Given the description of an element on the screen output the (x, y) to click on. 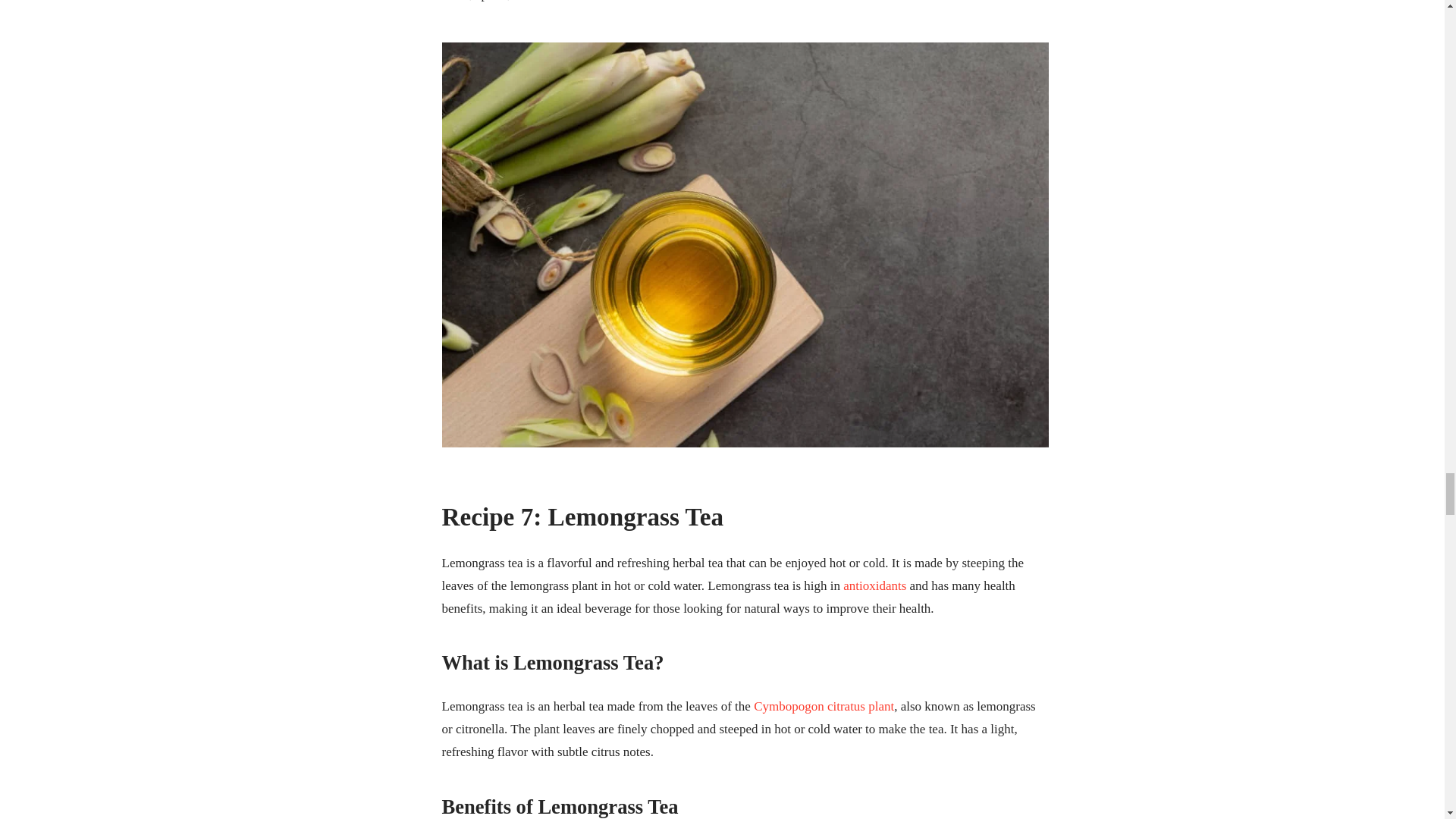
Cymbopogon citratus plant (823, 706)
